Given the description of an element on the screen output the (x, y) to click on. 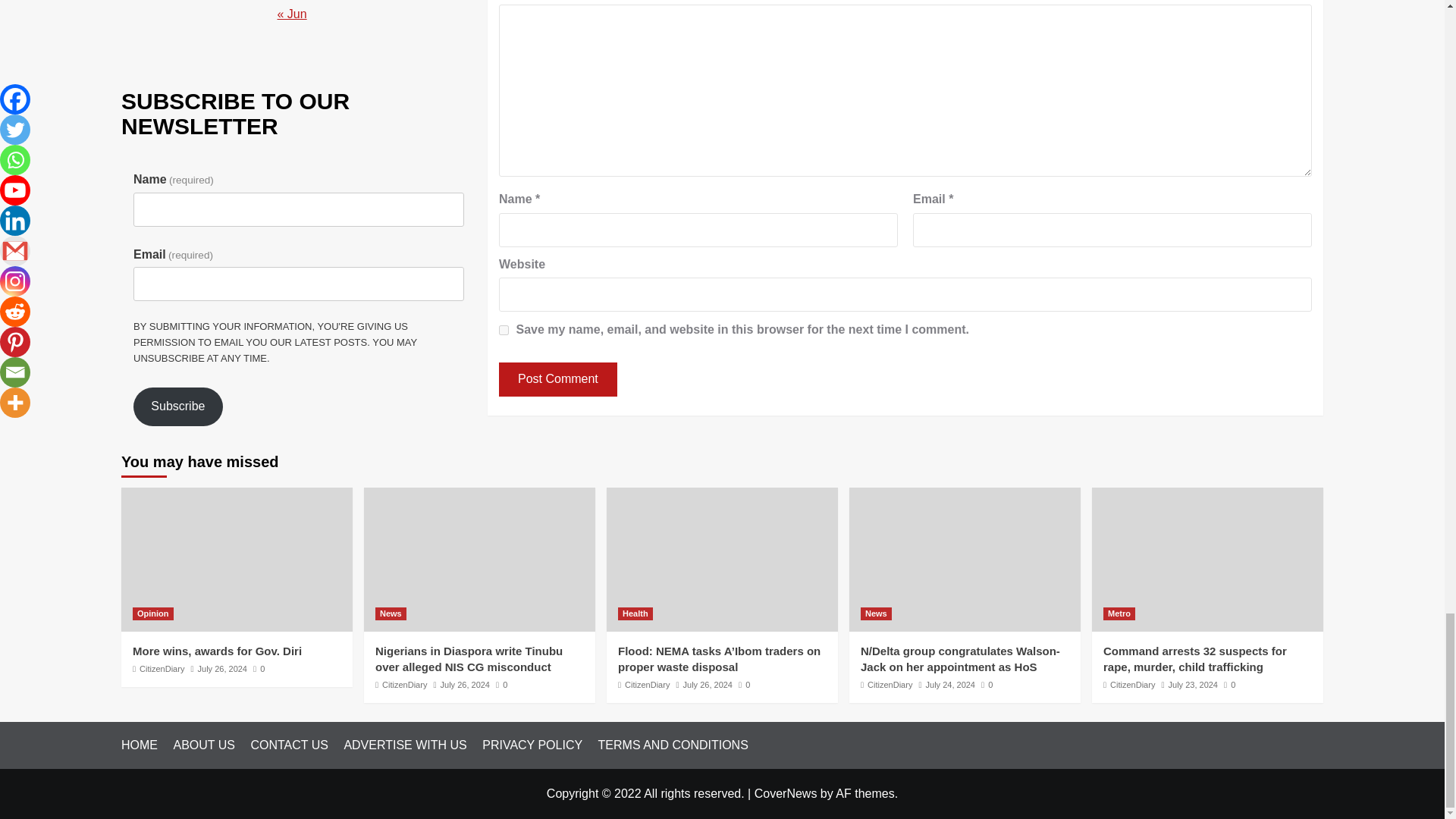
Post Comment (558, 379)
yes (503, 329)
